Given the description of an element on the screen output the (x, y) to click on. 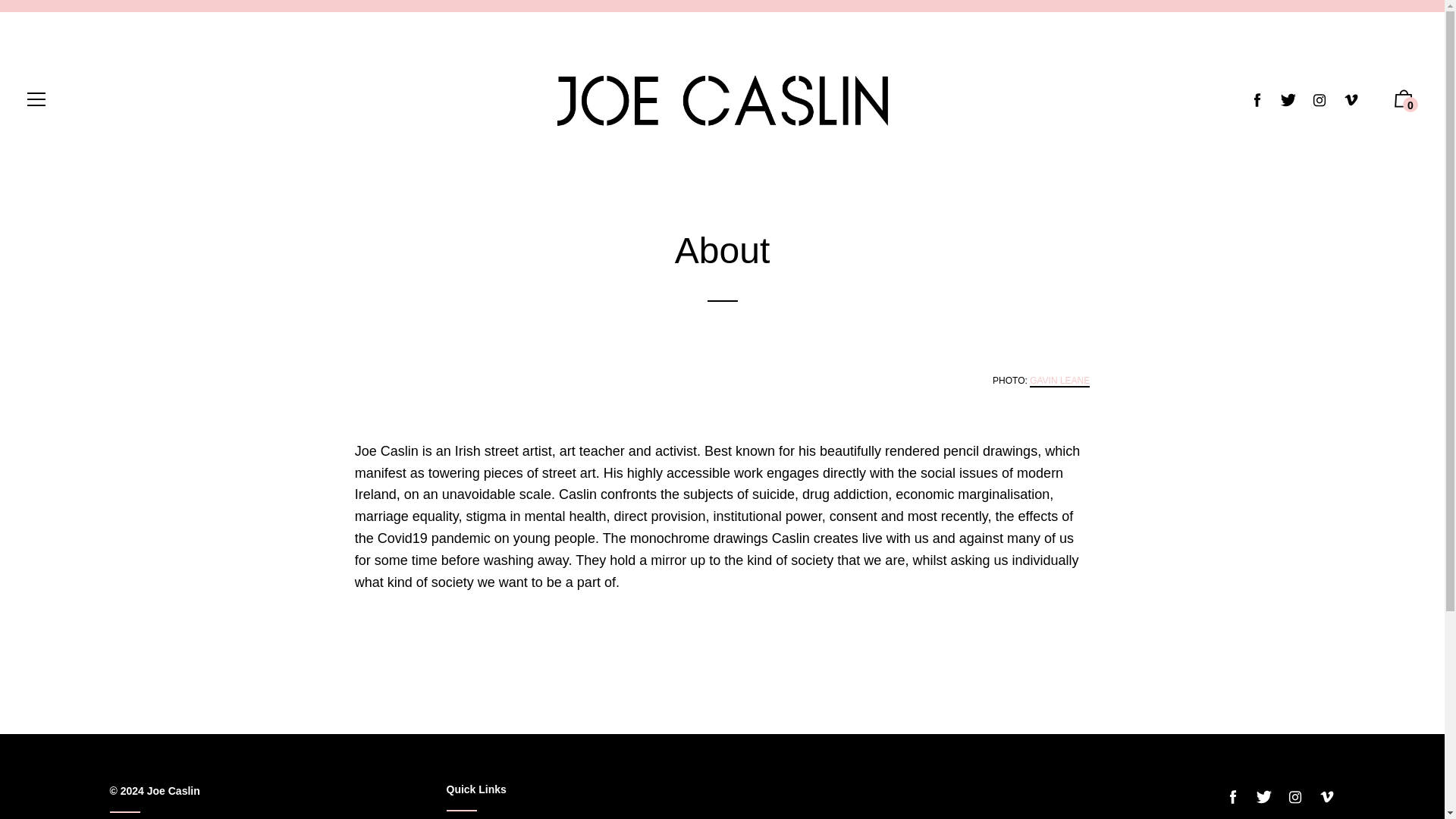
Joe Caslin on Vimeo (1350, 99)
Joe Caslin on Twitter (1263, 796)
Joe Caslin on Vimeo (1326, 796)
Joe Caslin on Facebook (1257, 99)
Joe Caslin on Facebook (1232, 796)
0 (1404, 102)
Joe Caslin on Twitter (1288, 99)
Joe Caslin on Instagram (1295, 796)
Joe Caslin on Instagram (1319, 99)
